Given the description of an element on the screen output the (x, y) to click on. 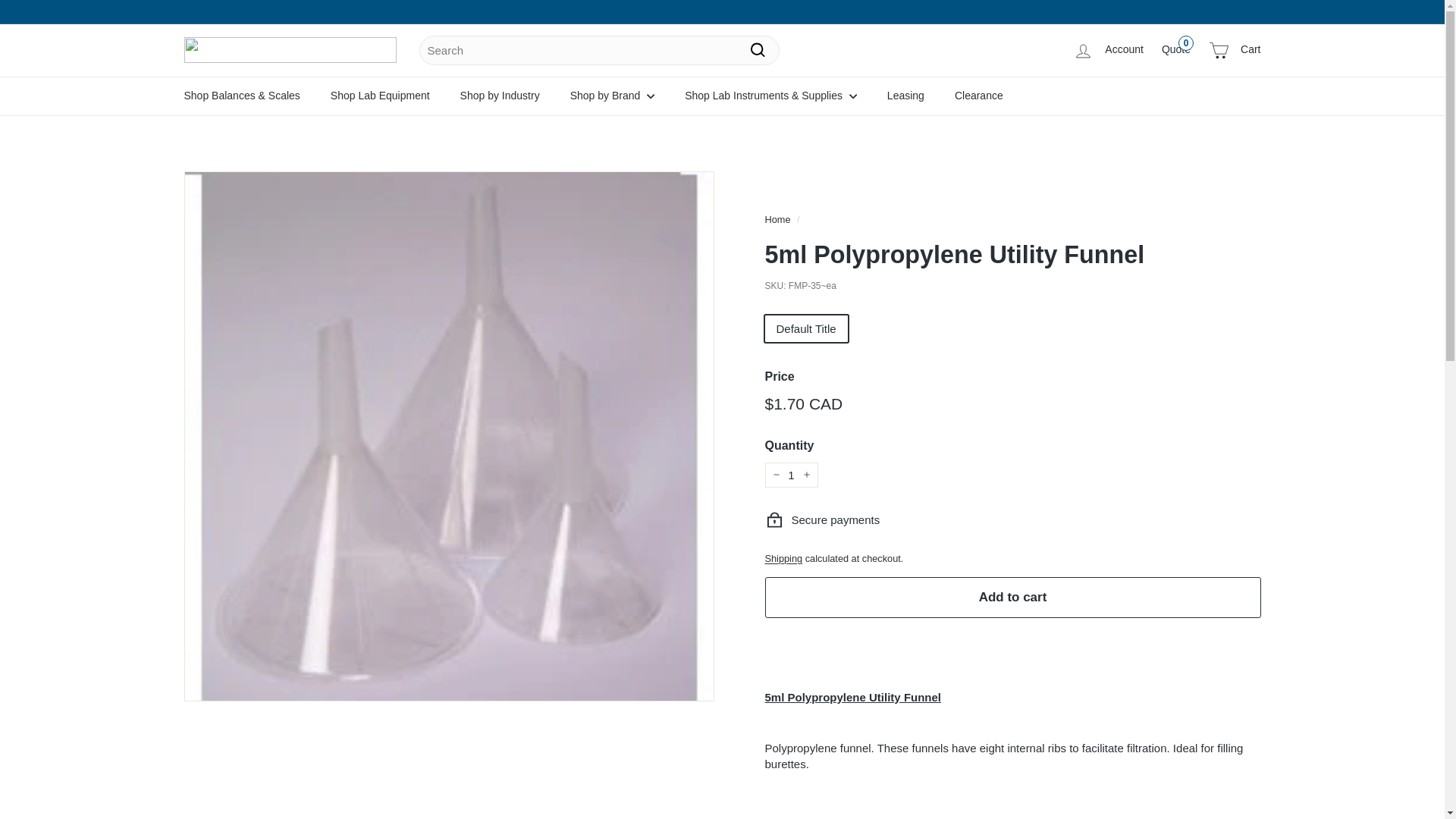
Shop Lab Equipment (380, 96)
Account (1176, 49)
1 (1108, 49)
Cart (790, 474)
Shop by Industry (1234, 49)
Back to the frontpage (499, 96)
